Given the description of an element on the screen output the (x, y) to click on. 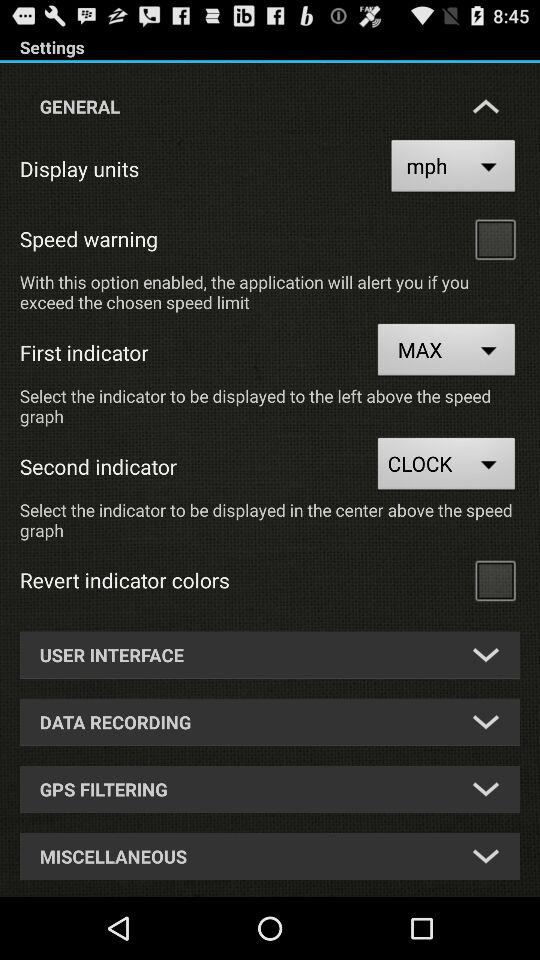
choose button (495, 579)
